Given the description of an element on the screen output the (x, y) to click on. 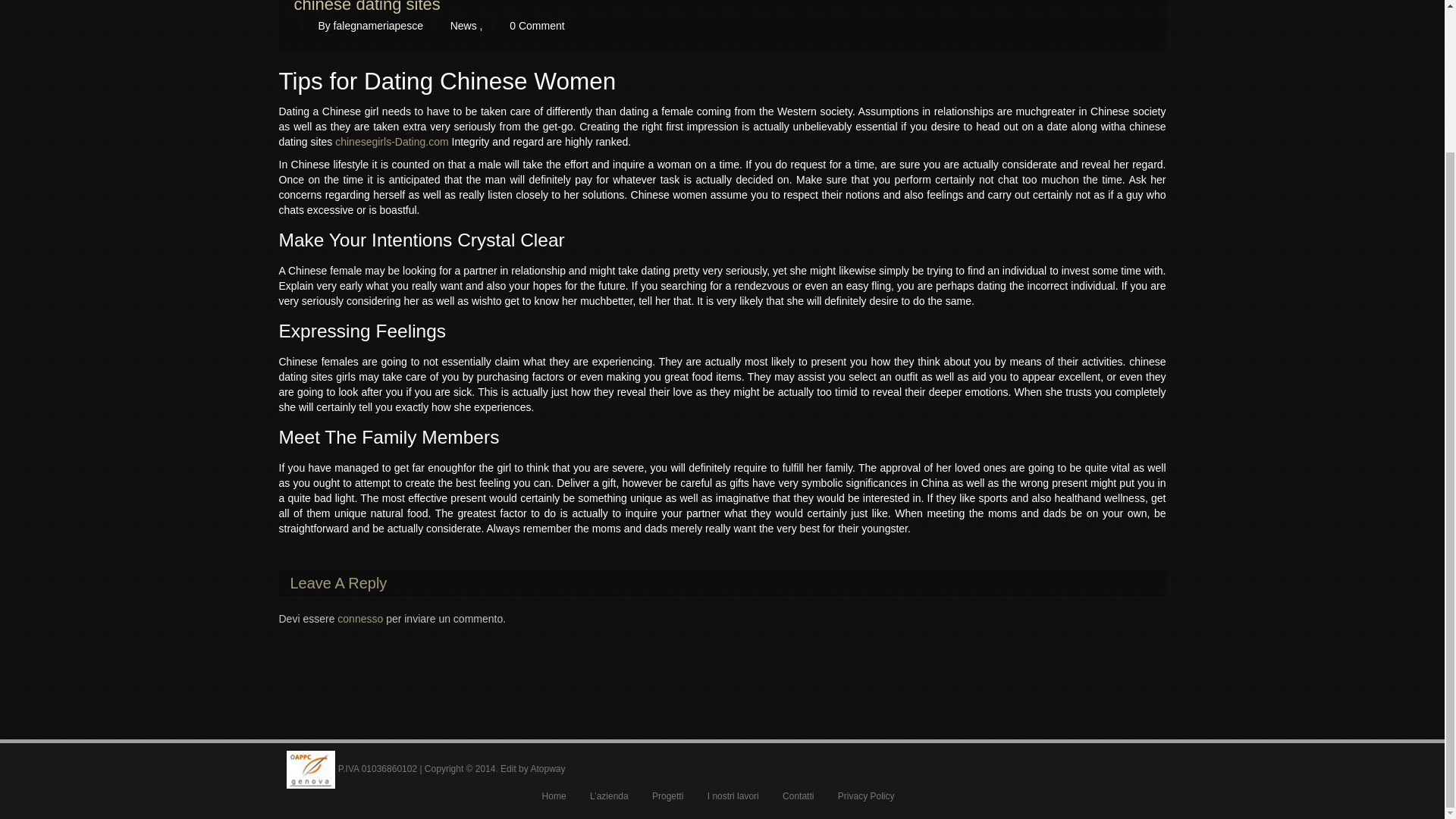
connesso (359, 618)
Atopway (546, 768)
Contatti (798, 796)
Progetti (667, 796)
Home (553, 796)
chinesegirls-Dating.com (391, 141)
0 Comment (536, 25)
News (463, 25)
I nostri lavori (732, 796)
chinese dating sites (367, 6)
Privacy Policy (866, 796)
